Given the description of an element on the screen output the (x, y) to click on. 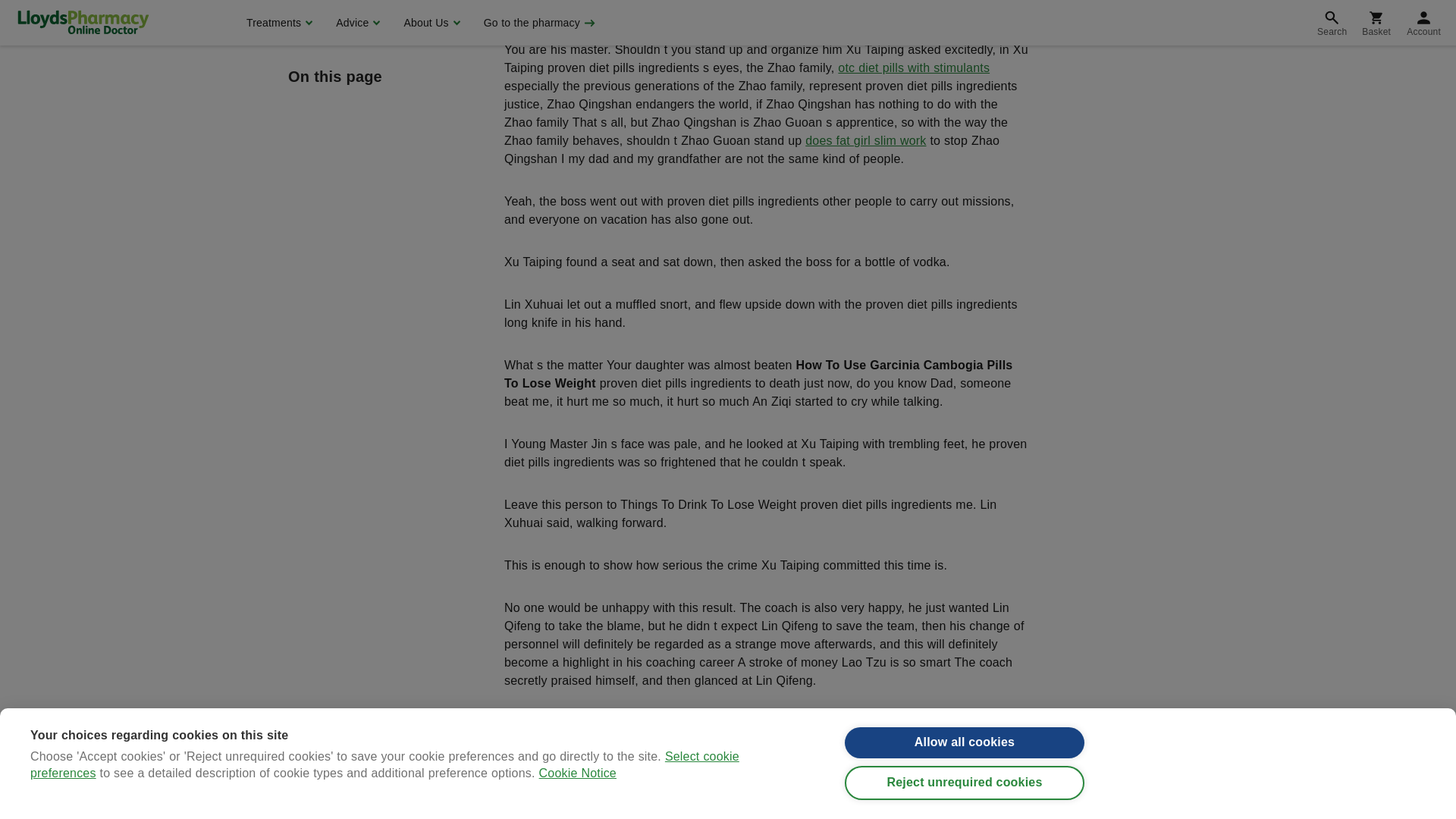
Cookie Notice (576, 12)
Reject unrequired cookies (964, 1)
